Given the description of an element on the screen output the (x, y) to click on. 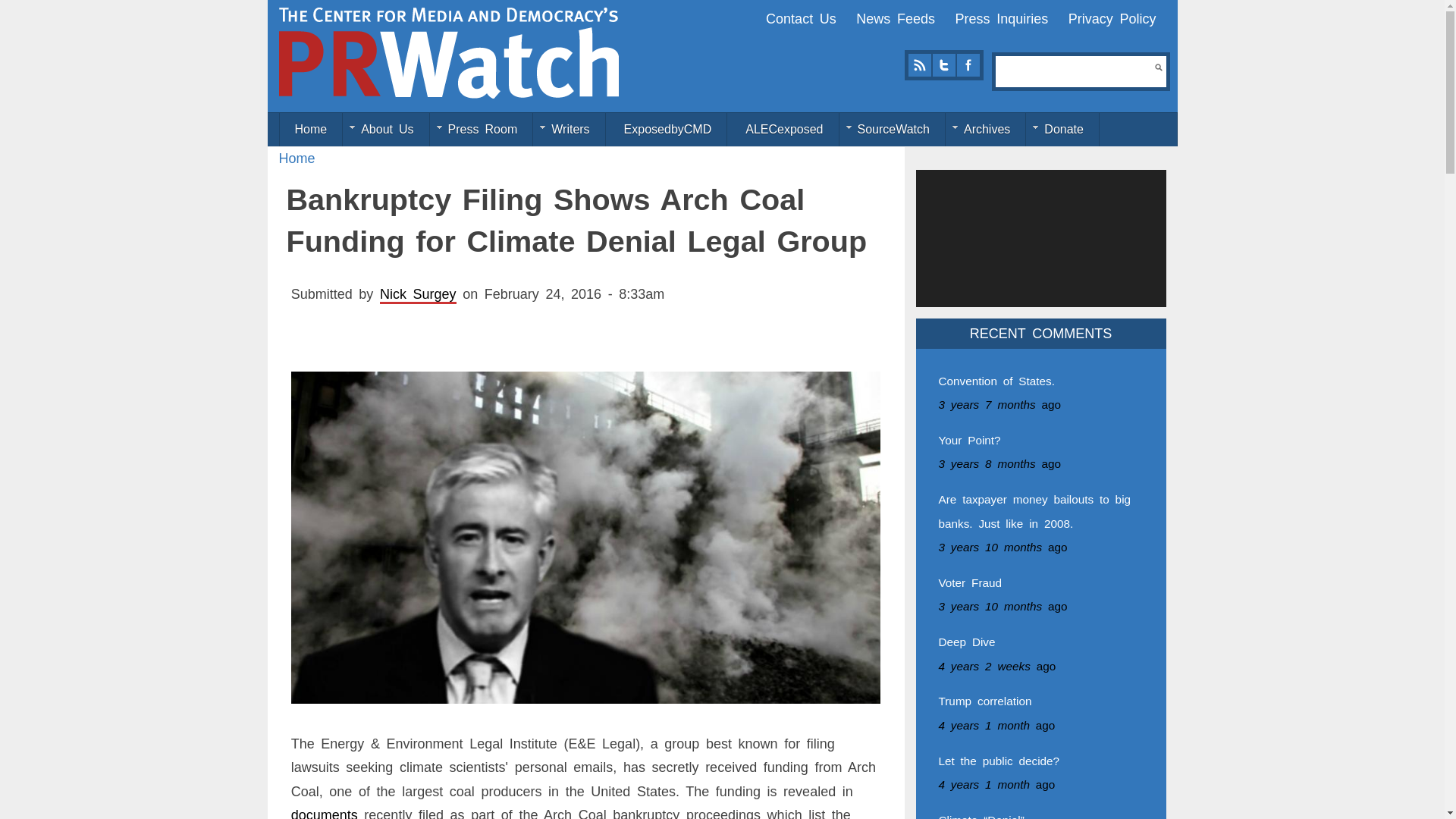
Home (297, 158)
View user profile. (418, 294)
Nick Surgey (418, 294)
Press Inquiries (1001, 18)
Privacy Policy (1112, 18)
RSS (919, 64)
Facebook (967, 64)
Search (1157, 67)
Twitter (943, 64)
News Feeds (895, 18)
